Given the description of an element on the screen output the (x, y) to click on. 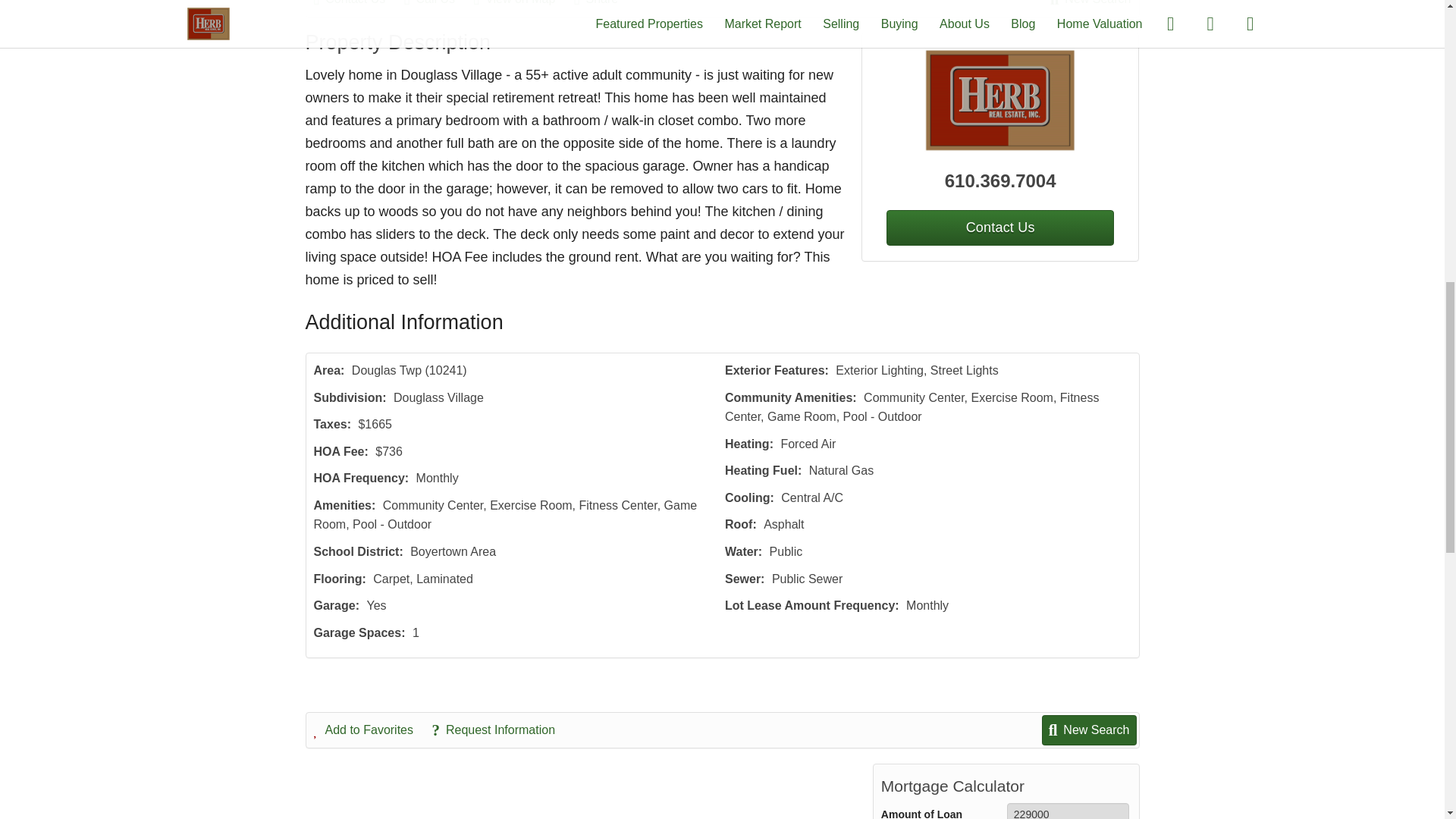
Call Us (437, 5)
Share (603, 5)
Contact Us (999, 227)
New Search (1090, 5)
Contact Us (357, 5)
View on Map (521, 5)
610.369.7004 (1000, 180)
229000 (1068, 811)
